Given the description of an element on the screen output the (x, y) to click on. 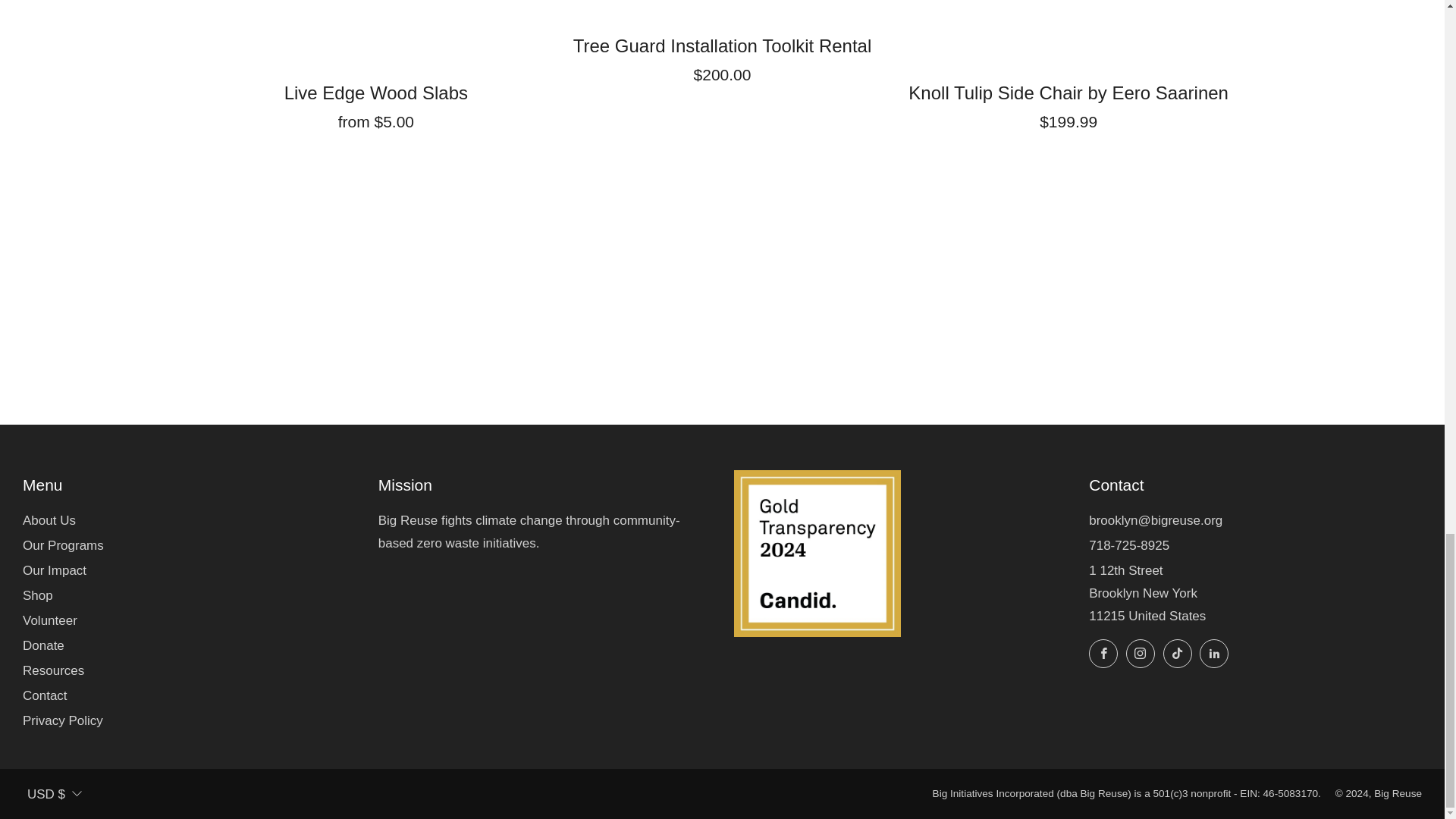
Live Edge Wood Slabs (376, 102)
Tree Guard Installation Toolkit Rental (721, 55)
Knoll Tulip Side Chair by Eero Saarinen (1068, 102)
